Given the description of an element on the screen output the (x, y) to click on. 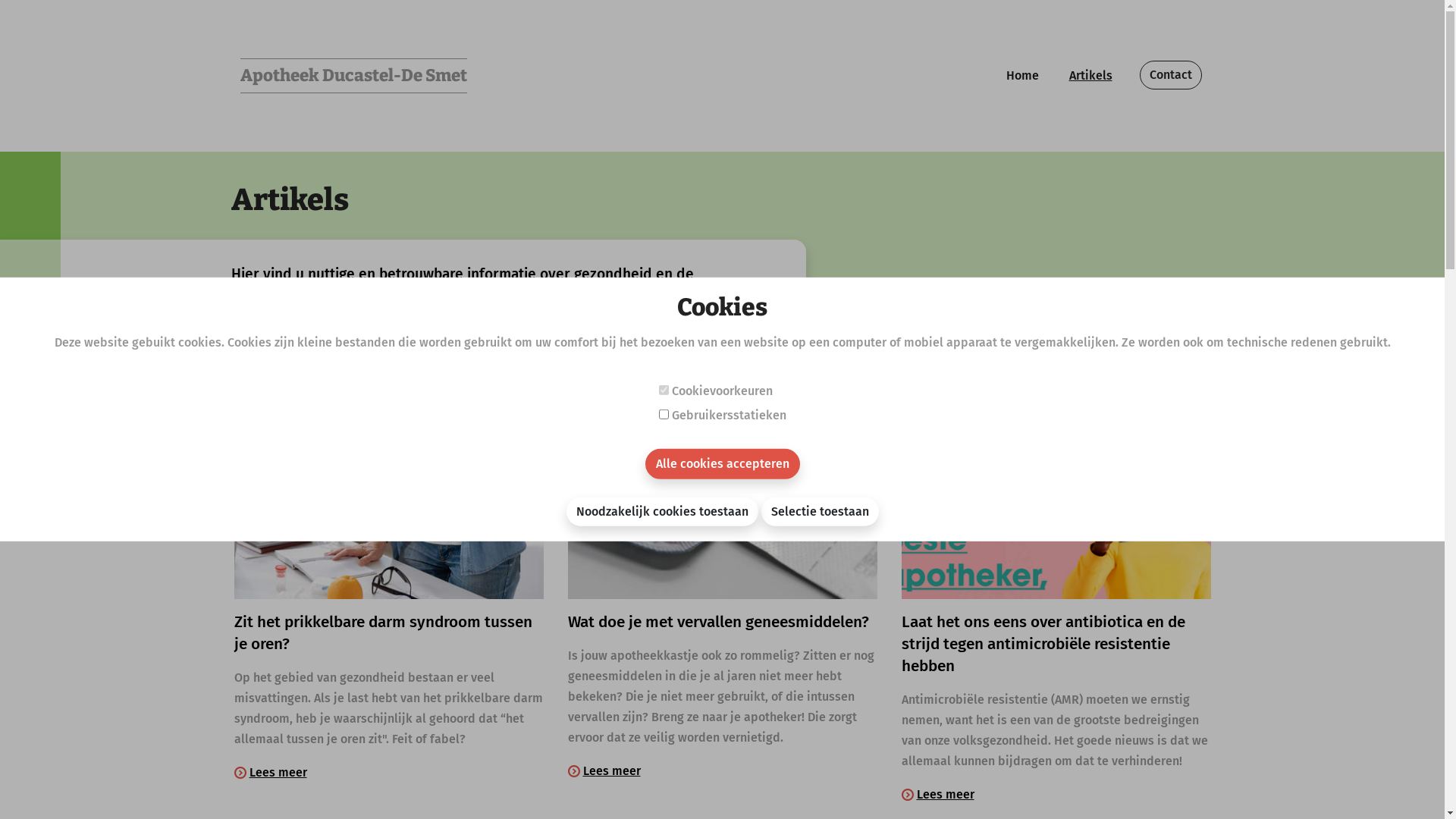
Home Element type: text (1021, 75)
Alle cookies accepteren Element type: text (721, 463)
Apotheek Ducastel-De Smet Element type: text (352, 75)
Contact Element type: text (1170, 74)
Noodzakelijk cookies toestaan Element type: text (661, 511)
Artikels Element type: text (1090, 75)
Selectie toestaan Element type: text (819, 511)
